Given the description of an element on the screen output the (x, y) to click on. 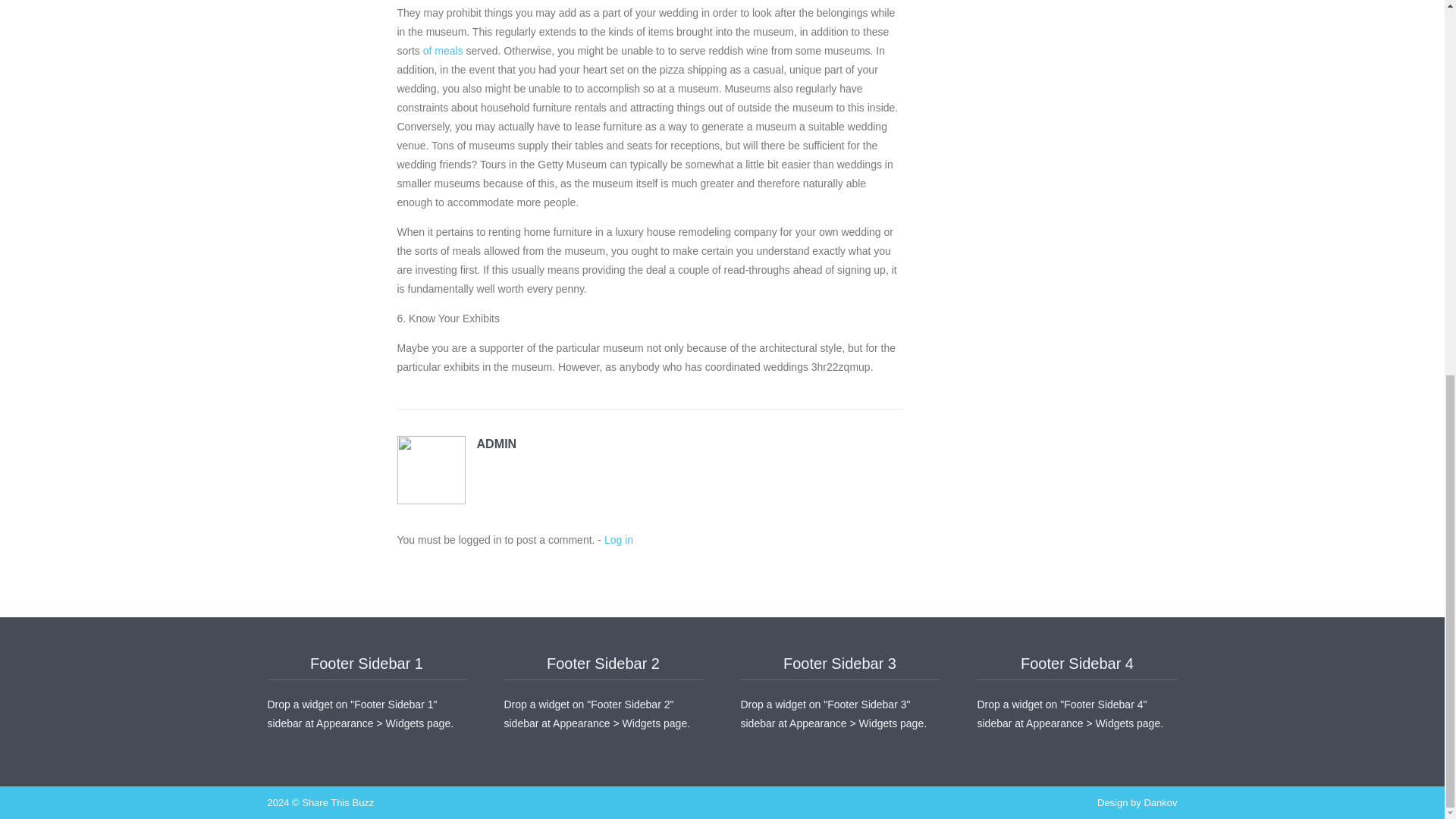
of meals (443, 50)
Log in (618, 539)
Dankov (1159, 802)
